Given the description of an element on the screen output the (x, y) to click on. 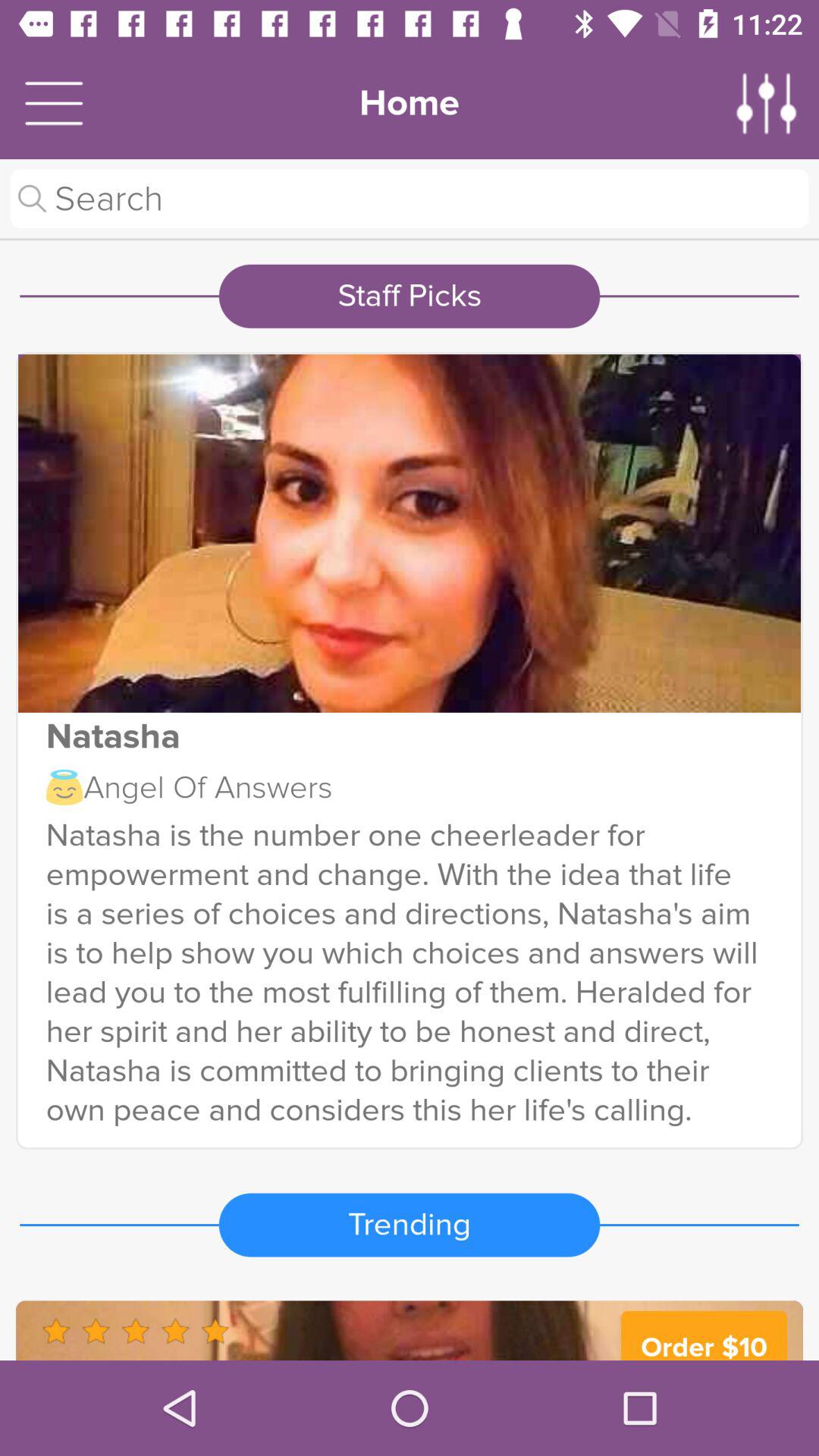
bring up page options (767, 103)
